Given the description of an element on the screen output the (x, y) to click on. 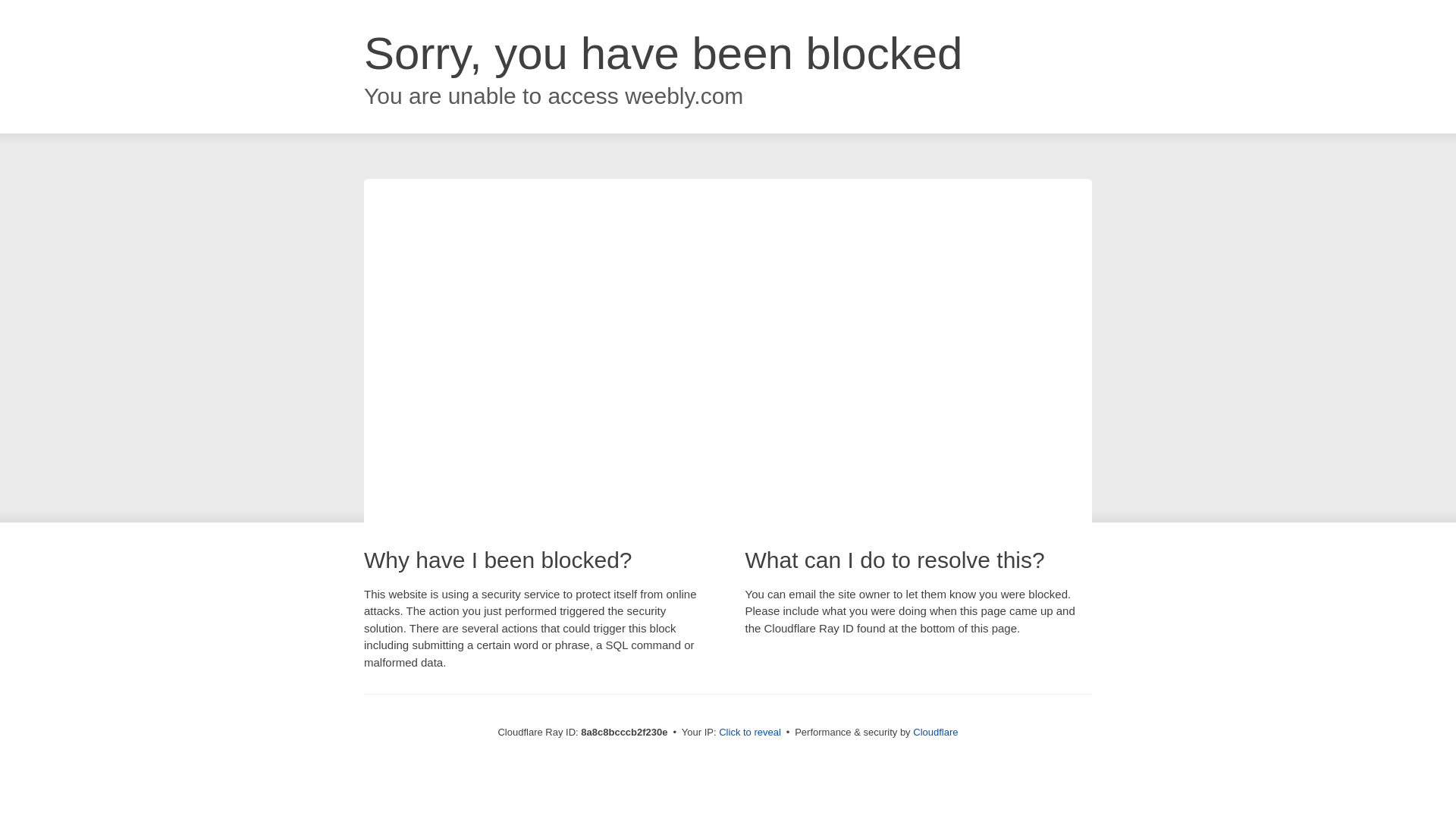
Click to reveal (749, 732)
Cloudflare (935, 731)
